Given the description of an element on the screen output the (x, y) to click on. 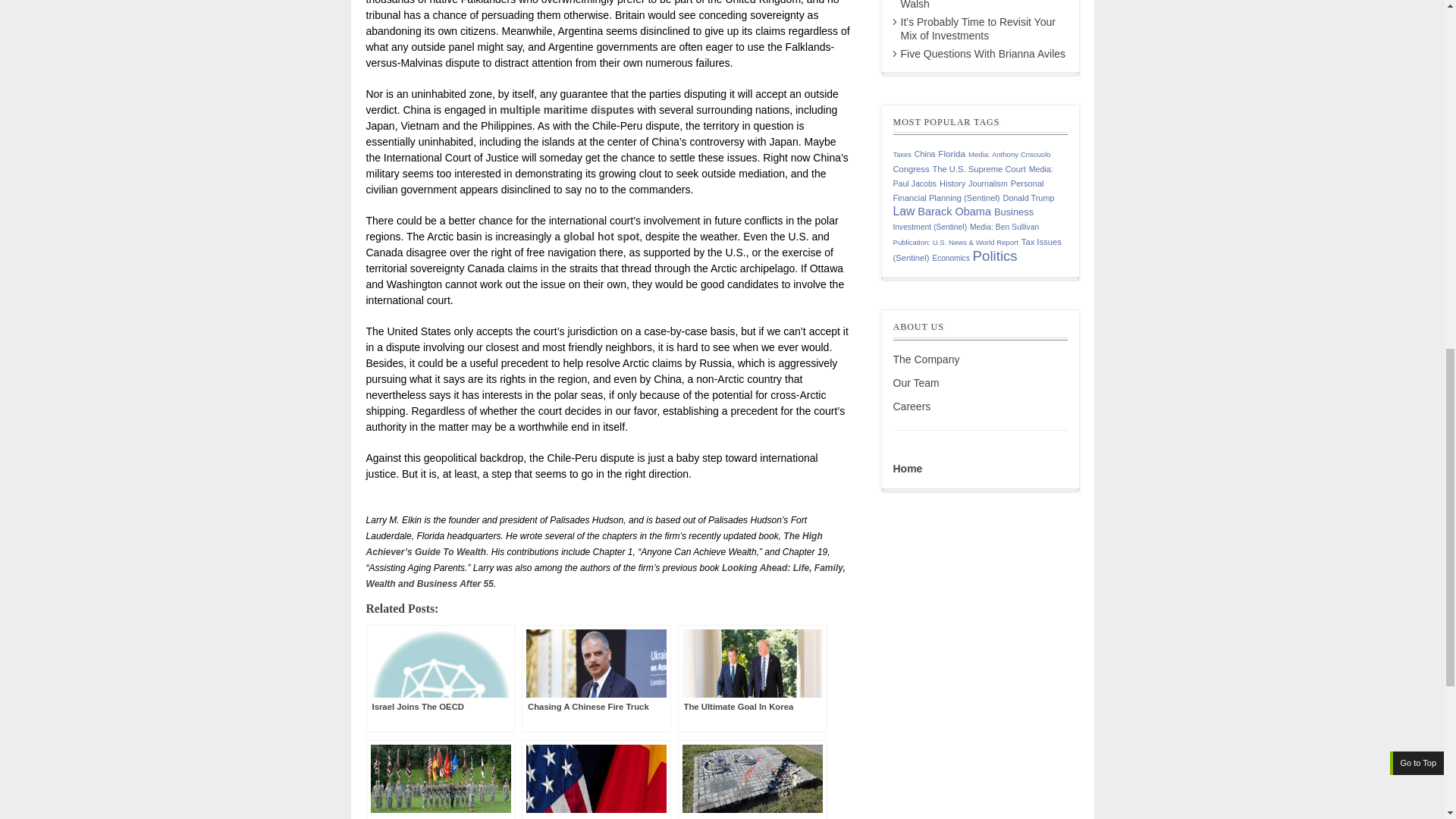
Israel Joins The OECD (440, 678)
Helping Iran Circumvent Sanctions (440, 779)
Chasing A Chinese Fire Truck (596, 678)
Helping Iran Circumvent Sanctions (440, 779)
Tiananmen Spoke But Nobody Listened (752, 779)
Israel Joins The OECD (440, 678)
The Ultimate Goal In Korea (752, 678)
Chasing A Chinese Fire Truck (596, 678)
Looking Ahead: Life, Family, Wealth and Business After 55 (604, 575)
a global hot spot (596, 236)
multiple maritime disputes (566, 110)
The Ultimate Goal In Korea (752, 678)
